Given the description of an element on the screen output the (x, y) to click on. 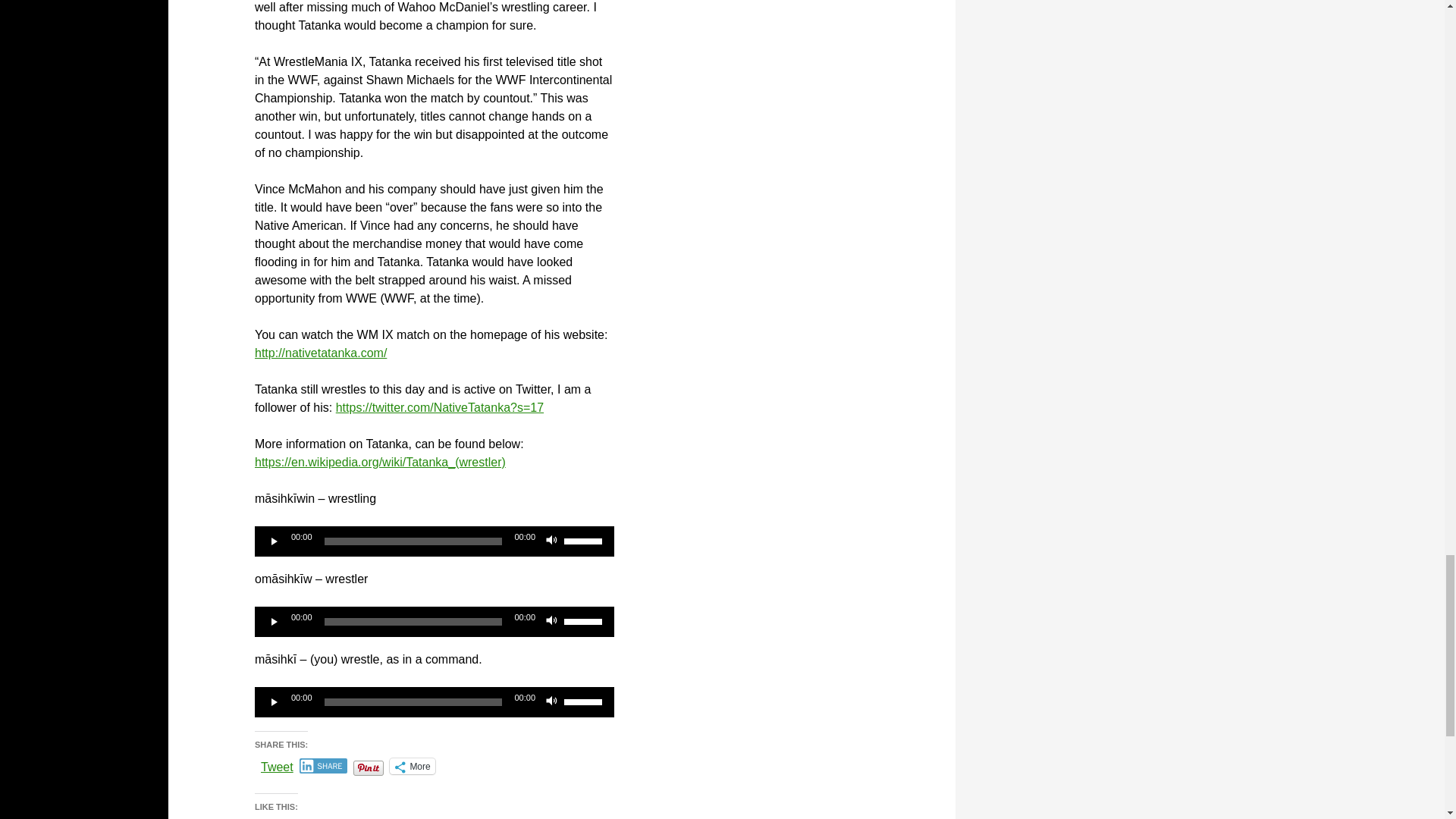
Play (274, 621)
Mute (551, 540)
Play (274, 540)
